Given the description of an element on the screen output the (x, y) to click on. 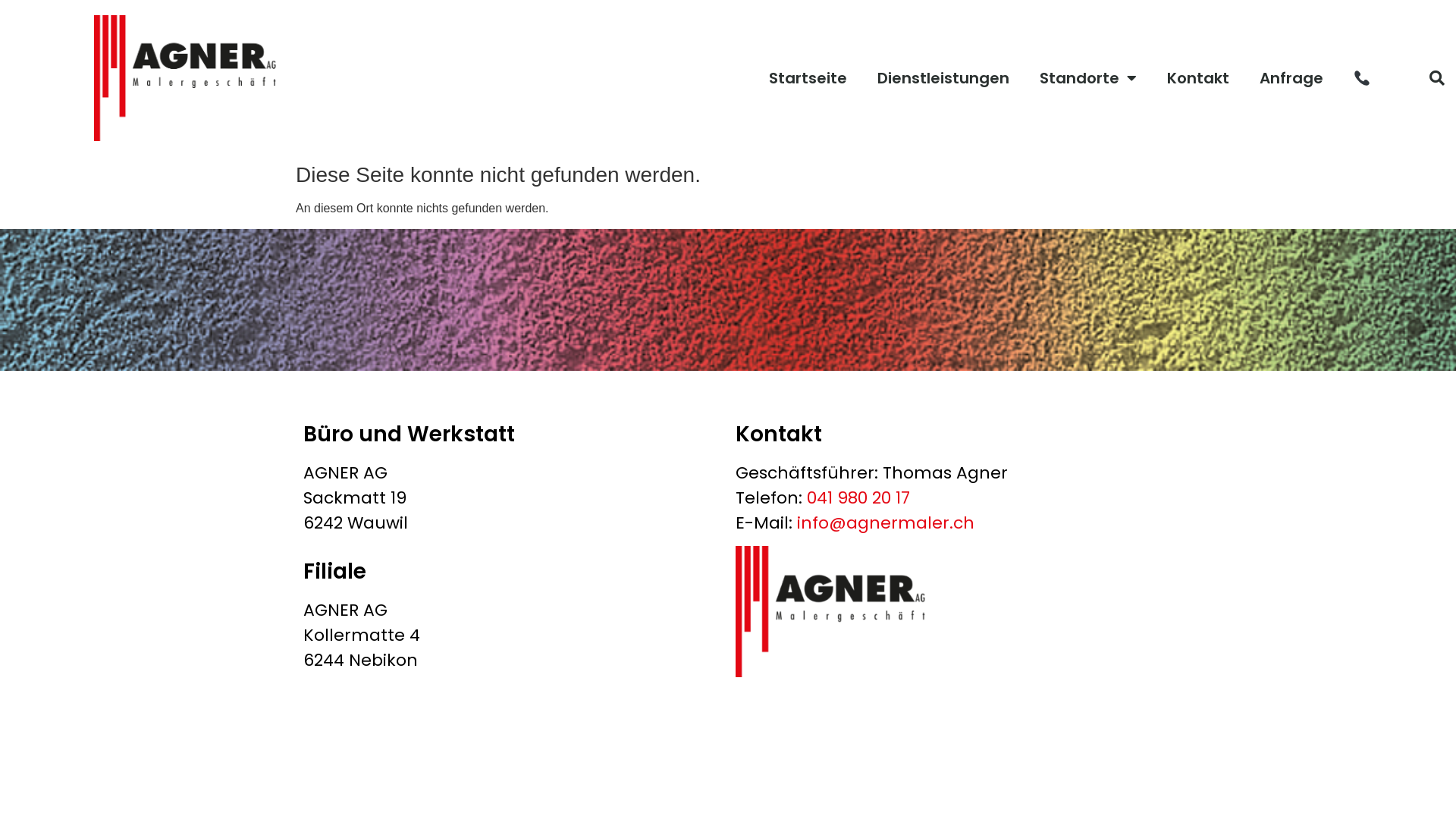
Kontakt Element type: text (1197, 78)
info@agnermaler.ch Element type: text (885, 522)
041 980 20 17 Element type: text (858, 497)
Standorte Element type: text (1087, 78)
Startseite Element type: text (807, 78)
Anfrage Element type: text (1291, 78)
Dienstleistungen Element type: text (943, 78)
